Given the description of an element on the screen output the (x, y) to click on. 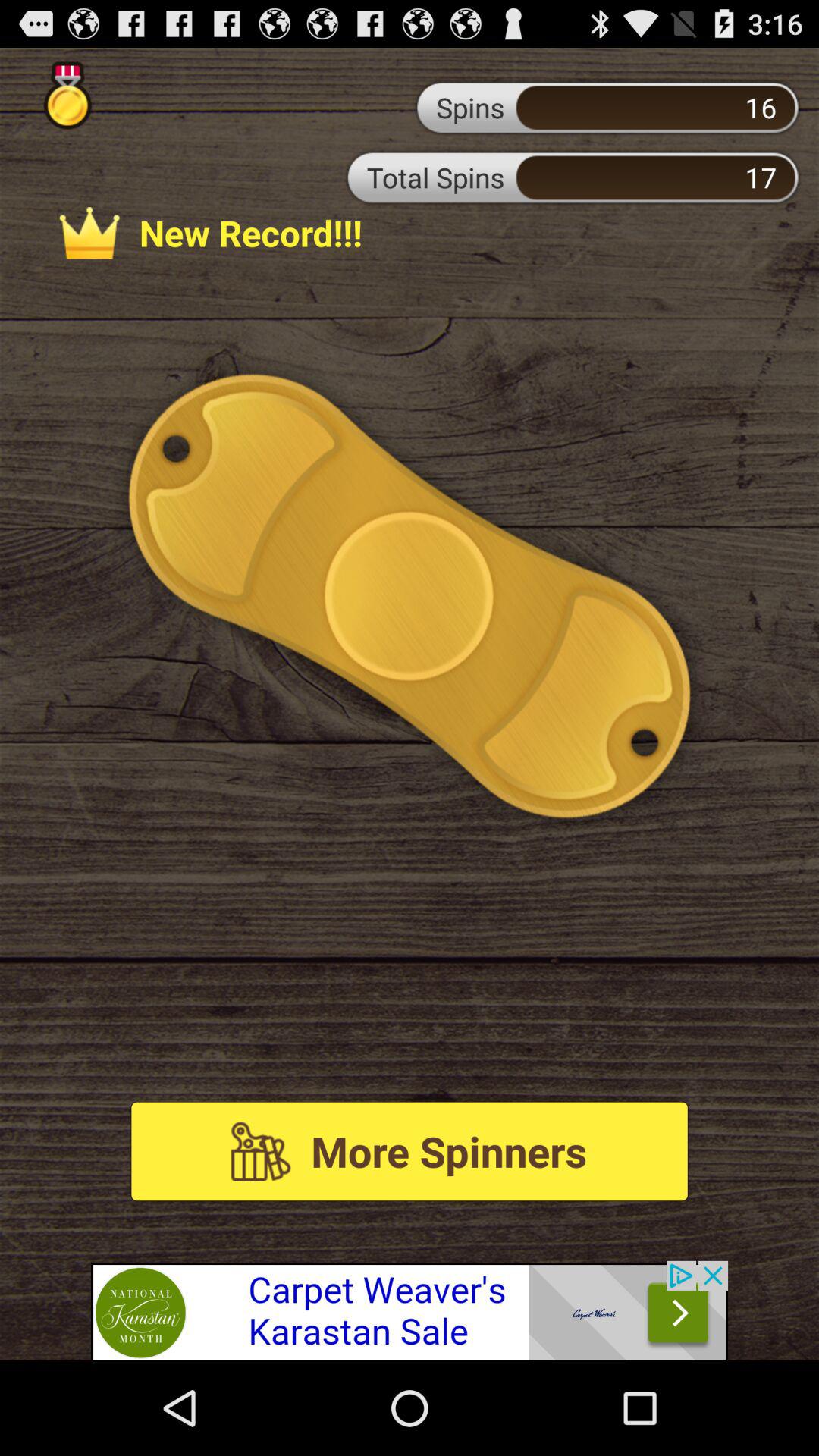
show gold medals earned (67, 95)
